Given the description of an element on the screen output the (x, y) to click on. 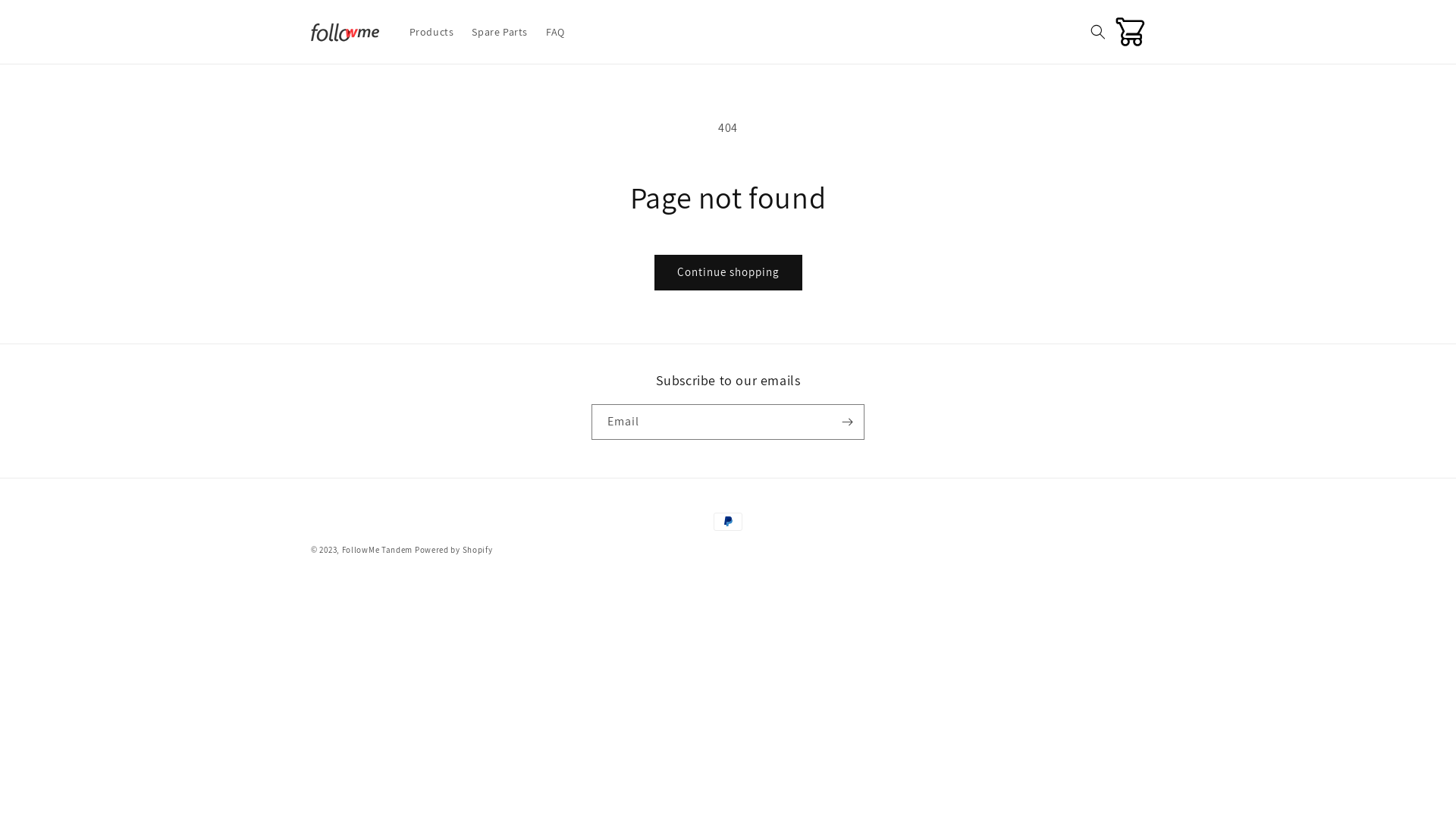
Cart Element type: text (1131, 31)
FAQ Element type: text (555, 31)
Continue shopping Element type: text (727, 272)
Powered by Shopify Element type: text (453, 549)
Products Element type: text (431, 31)
FollowMe Tandem Element type: text (377, 549)
Spare Parts Element type: text (499, 31)
